Given the description of an element on the screen output the (x, y) to click on. 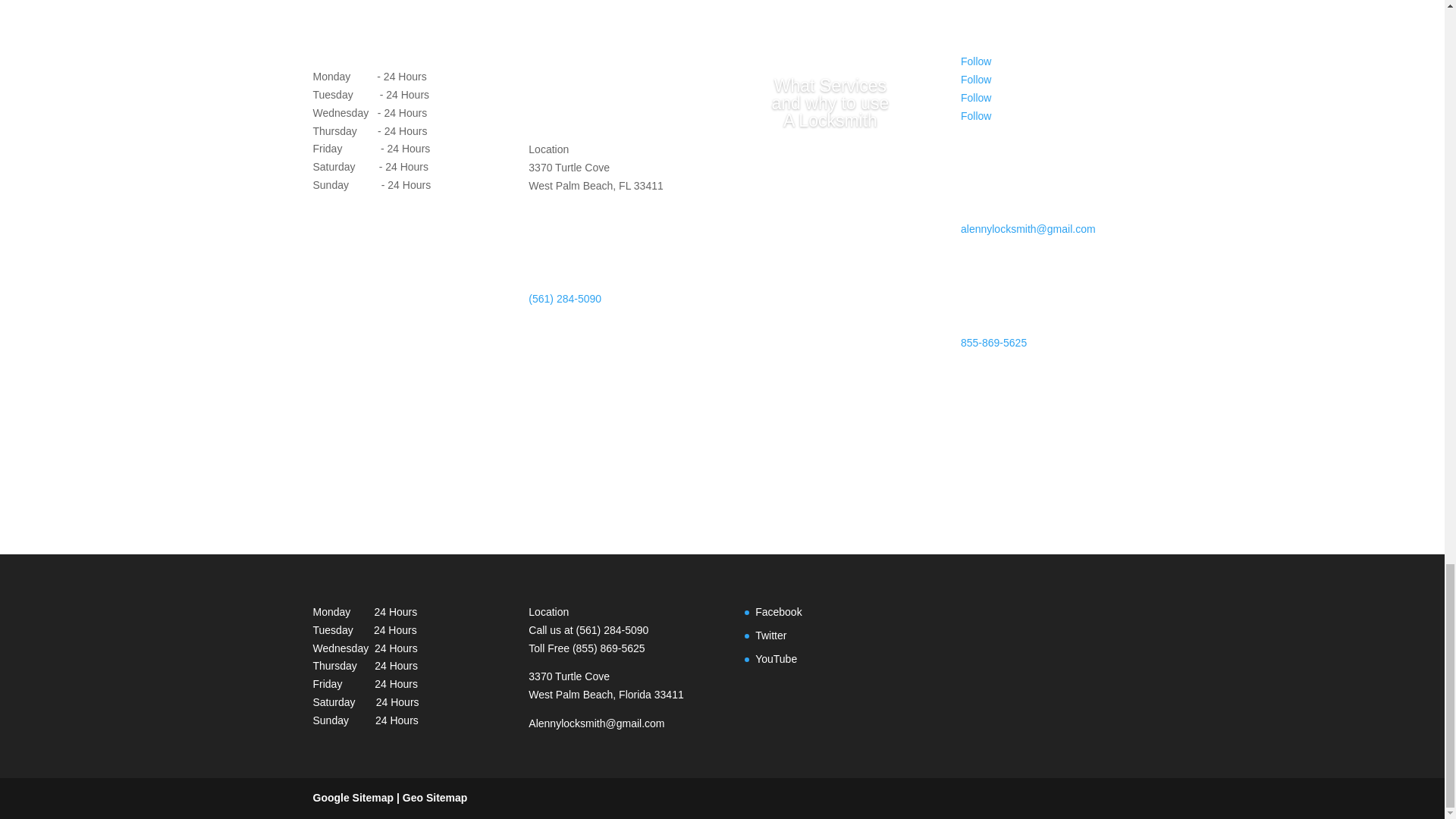
Follow on Facebook (975, 61)
Follow on Instagram (975, 115)
Follow on Youtube (975, 97)
Follow on Twitter (975, 79)
